Given the description of an element on the screen output the (x, y) to click on. 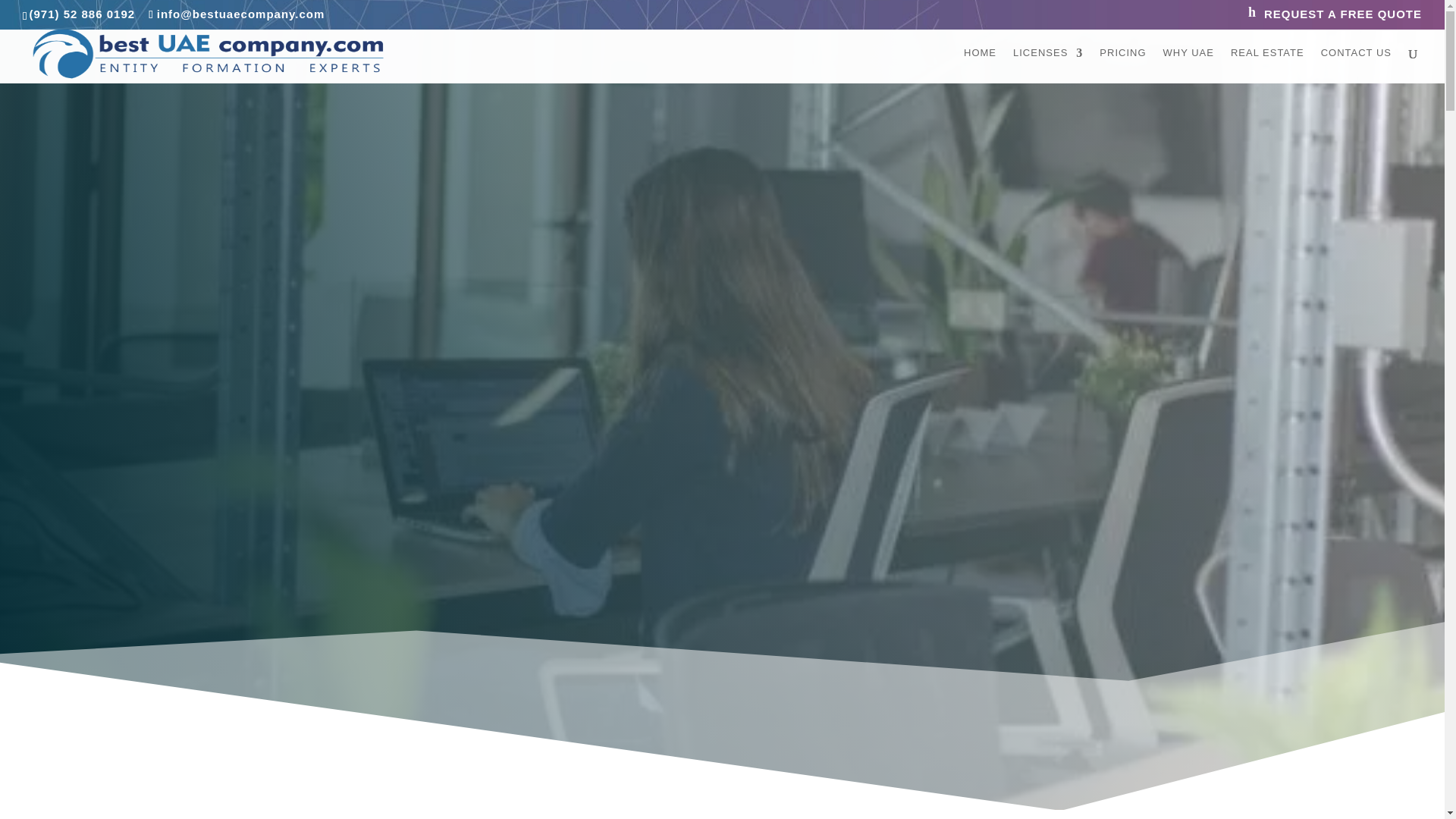
WHY UAE (1188, 65)
LICENSES (1048, 65)
REQUEST A FREE QUOTE (1334, 17)
PRICING (1122, 65)
CONTACT US (1355, 65)
REAL ESTATE (1267, 65)
HOME (979, 65)
